Given the description of an element on the screen output the (x, y) to click on. 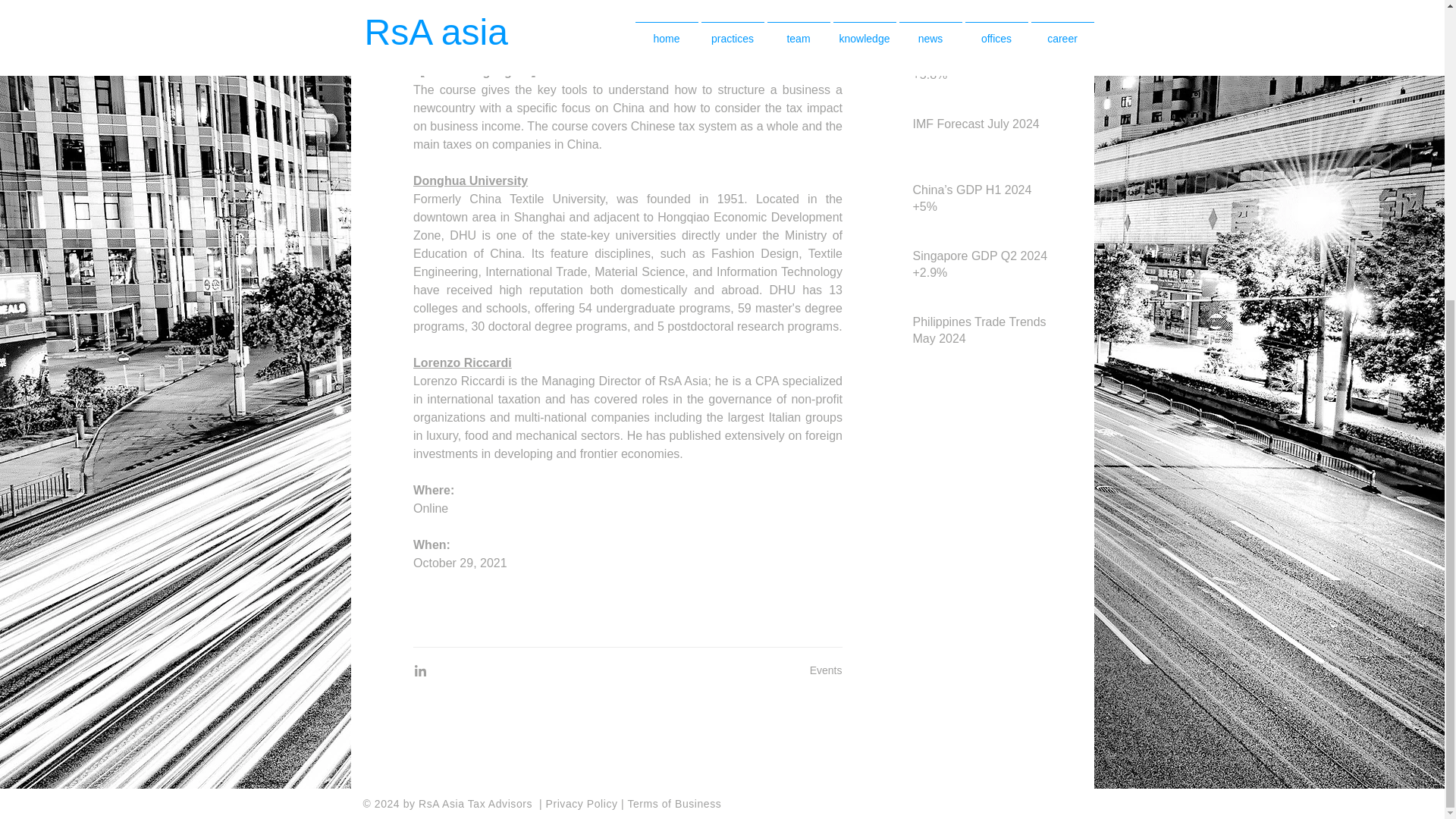
Philippines Trade Trends May 2024 (981, 333)
Privacy Policy (583, 803)
China's Trade June 2024 (981, 3)
IMF Forecast July 2024 (981, 127)
Events (826, 670)
Terms of Business (673, 803)
